Given the description of an element on the screen output the (x, y) to click on. 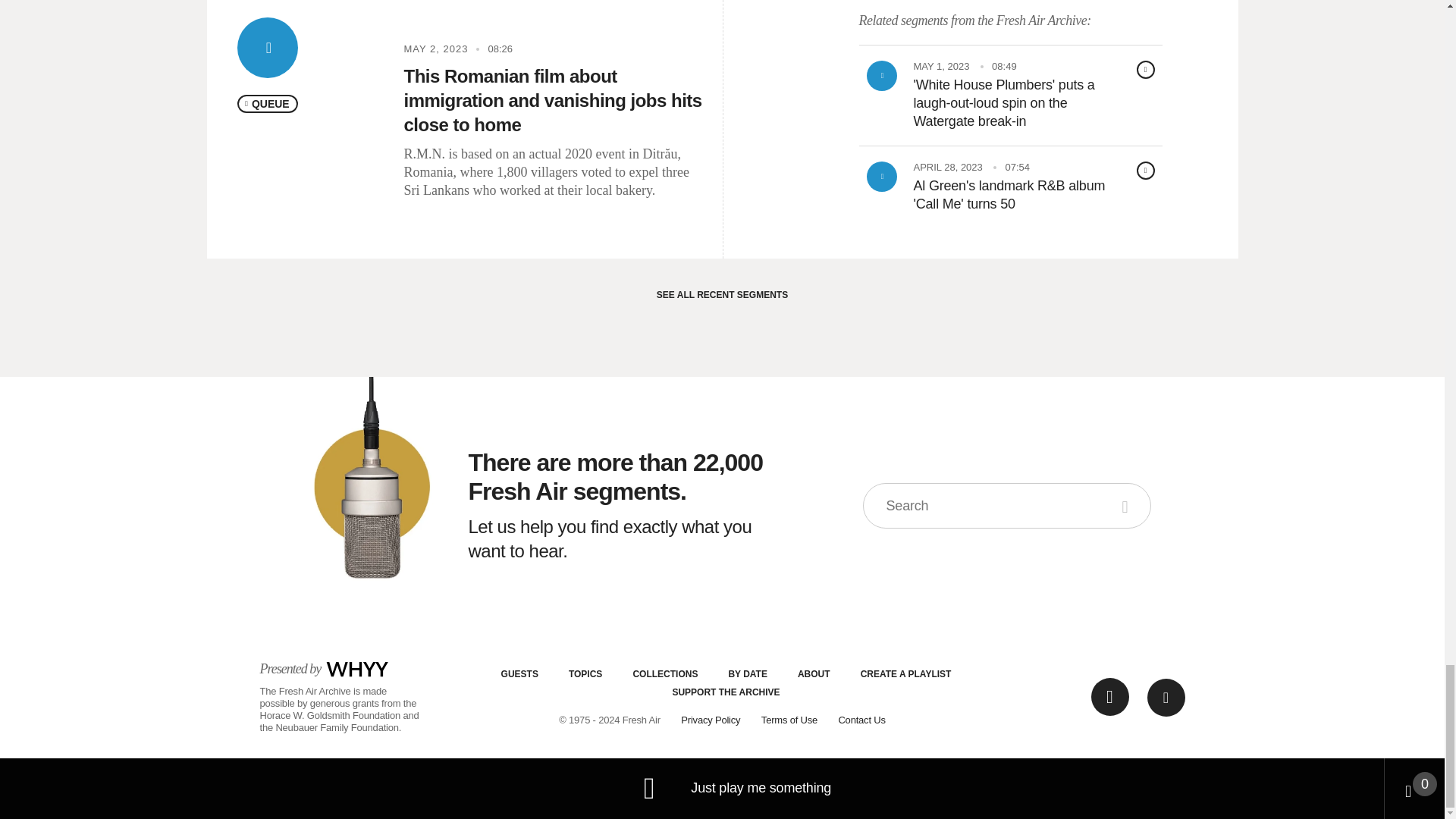
Search (1127, 505)
